Given the description of an element on the screen output the (x, y) to click on. 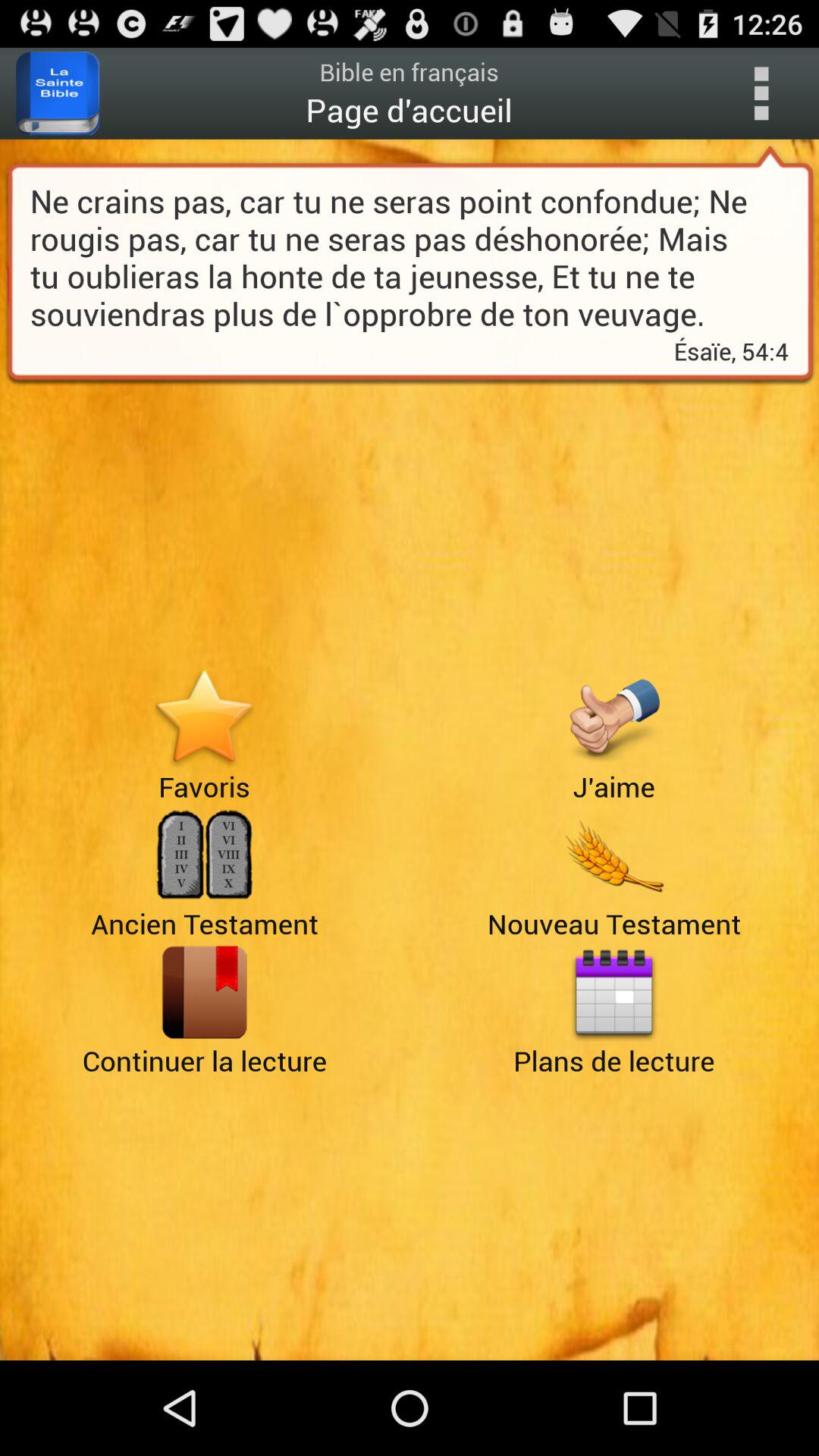
view testament (613, 854)
